Given the description of an element on the screen output the (x, y) to click on. 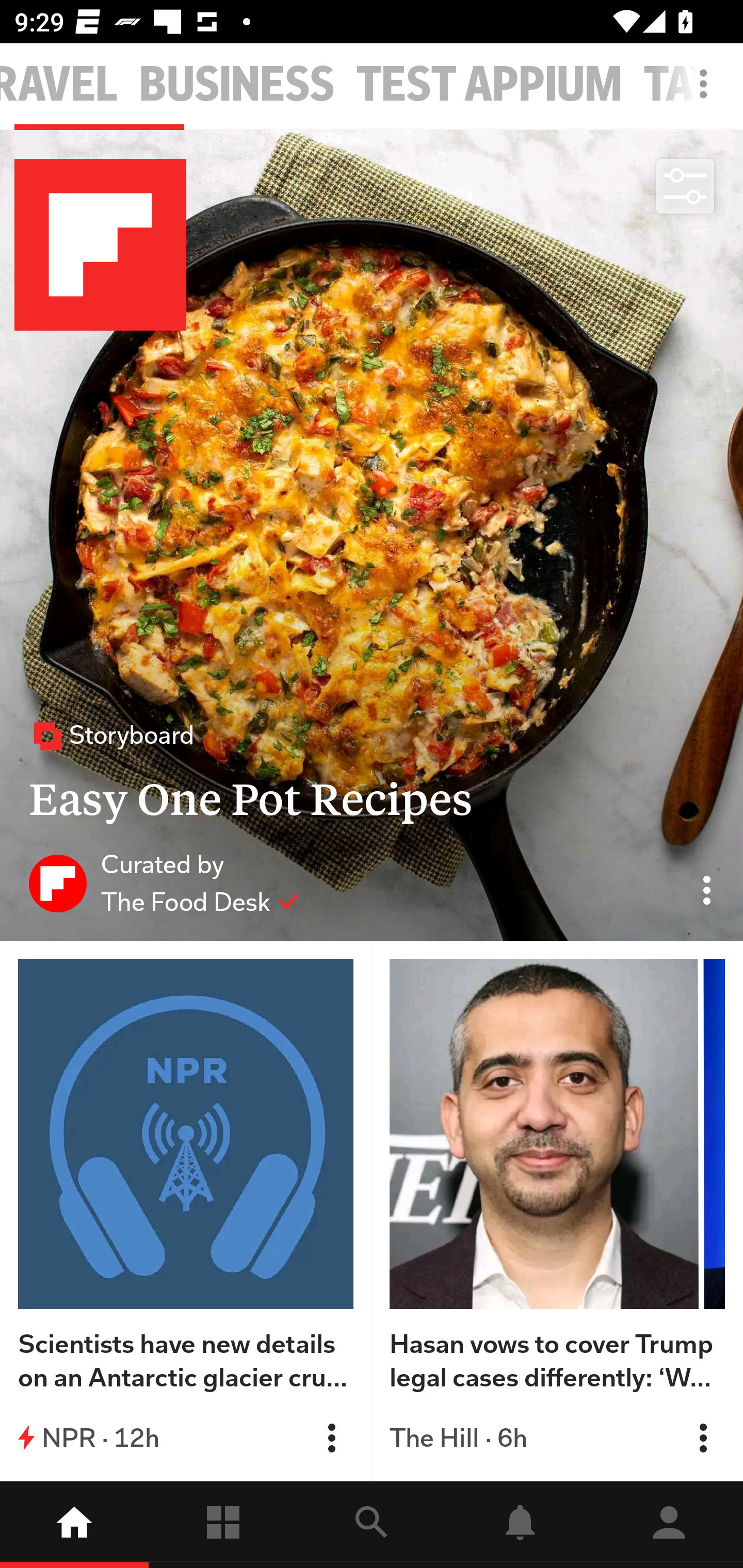
TRAVEL (58, 84)
BUSINESS (237, 84)
TEST APPIUM (489, 84)
More options (706, 93)
Curated by The Food Desk (163, 882)
NPR · 12h Flip into Magazine (185, 1437)
The Hill · 6h Flip into Magazine (557, 1437)
Flip into Magazine (331, 1437)
Flip into Magazine (703, 1437)
home (74, 1524)
Following (222, 1524)
explore (371, 1524)
Notifications (519, 1524)
Profile (668, 1524)
